Given the description of an element on the screen output the (x, y) to click on. 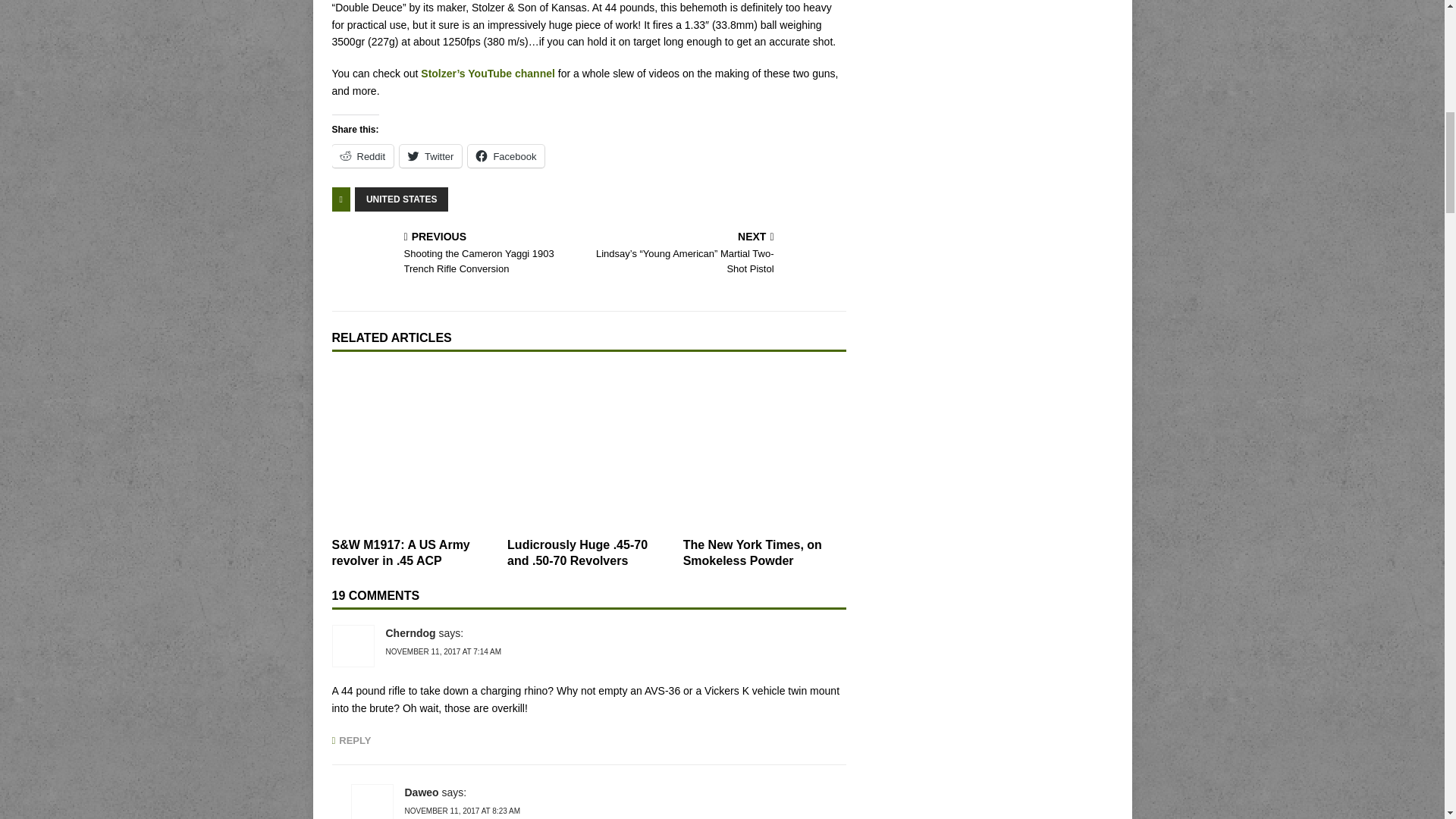
Click to share on Reddit (362, 155)
Click to share on Twitter (429, 155)
Click to share on Facebook (505, 155)
